Given the description of an element on the screen output the (x, y) to click on. 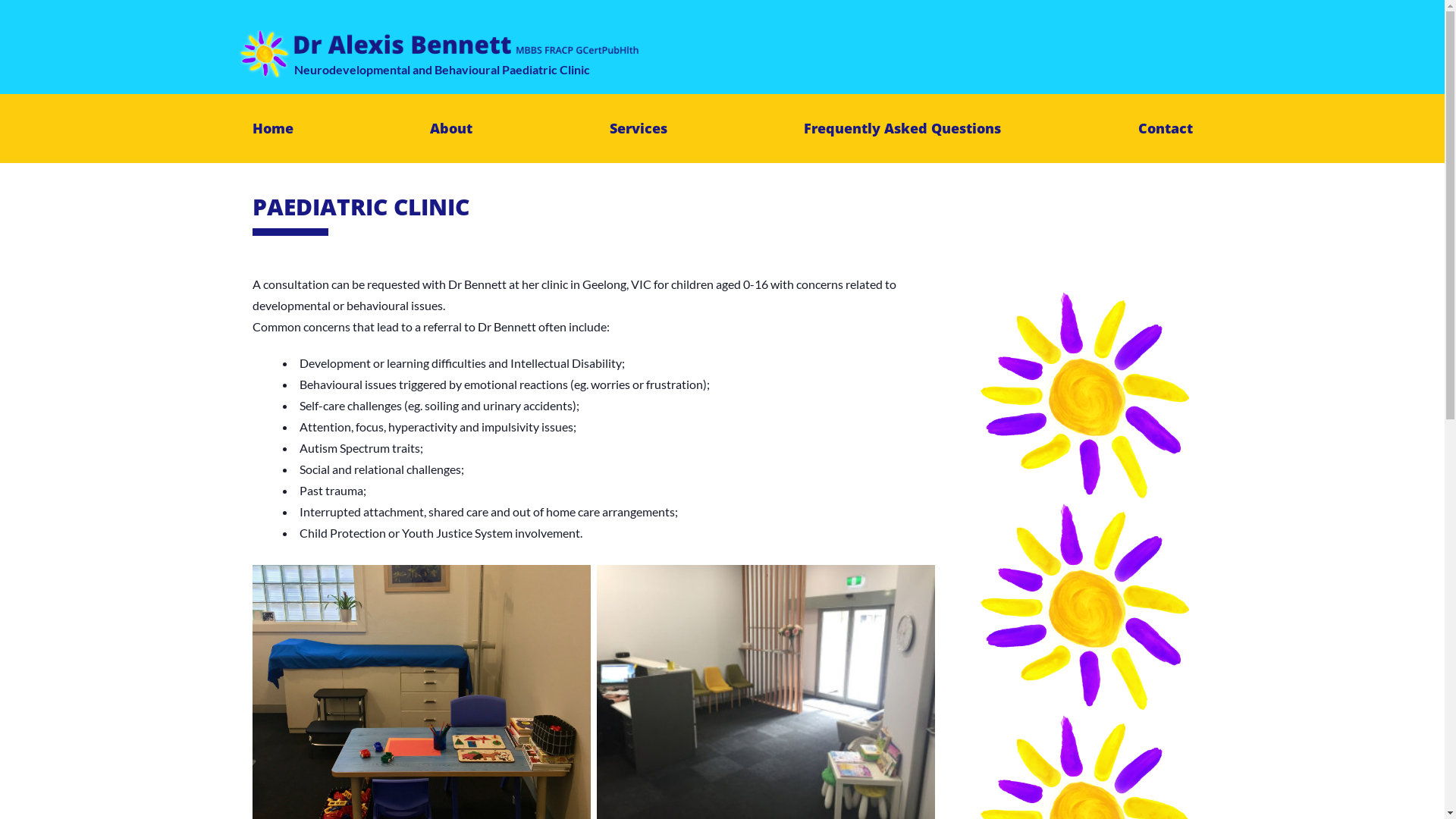
Dr Alexis Bennett Element type: text (481, 45)
Services Element type: text (638, 128)
Contact Element type: text (1164, 128)
About Element type: text (450, 128)
Frequently Asked Questions Element type: text (902, 128)
Home Element type: text (271, 128)
Skip to primary navigation Element type: text (0, 0)
